Given the description of an element on the screen output the (x, y) to click on. 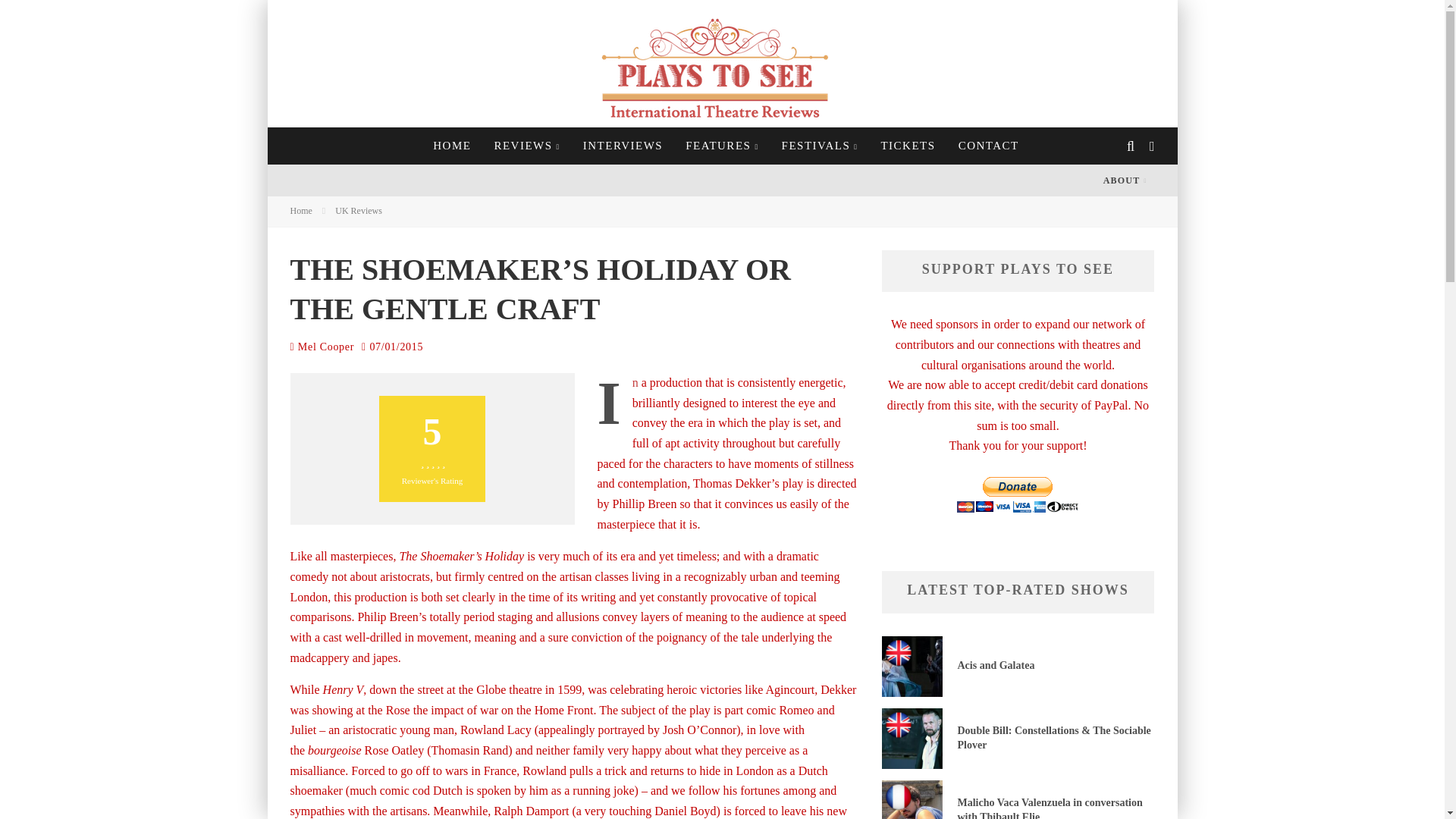
REVIEWS (525, 145)
HOME (451, 145)
PayPal - The safer, easier way to pay online! (1017, 493)
